Given the description of an element on the screen output the (x, y) to click on. 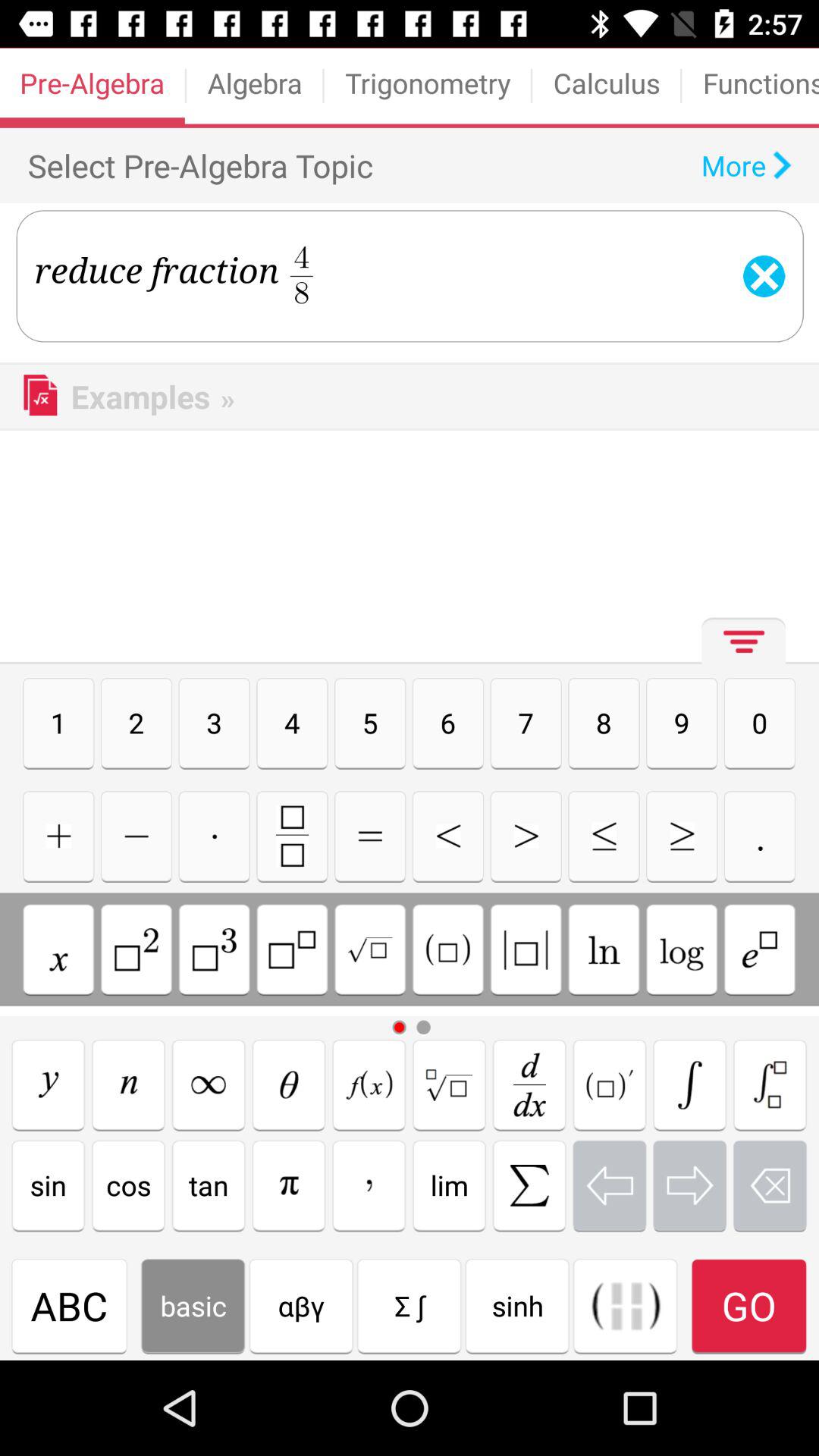
select less than or equal to symbol (603, 835)
